Given the description of an element on the screen output the (x, y) to click on. 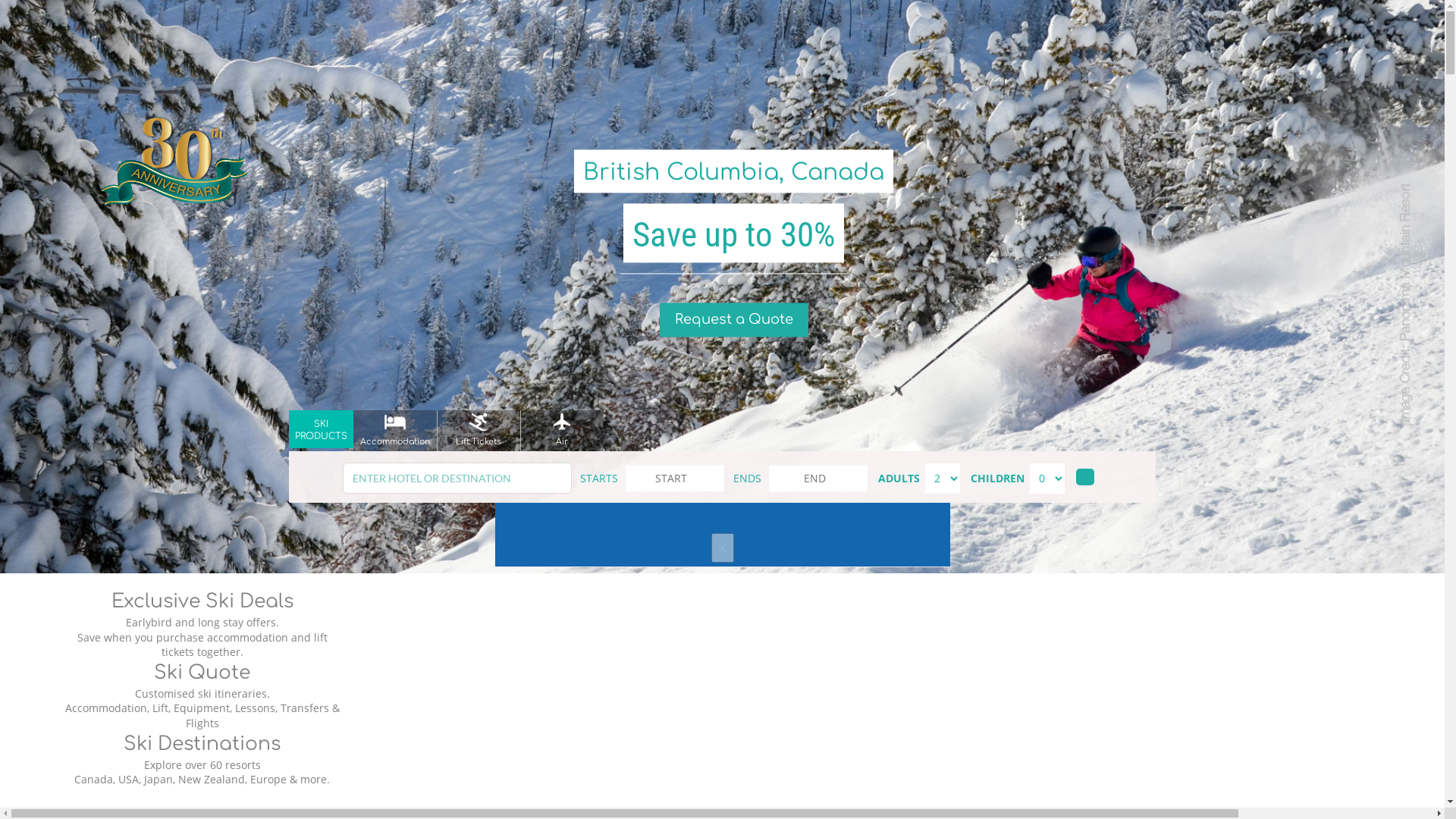
Air Element type: text (561, 429)
SW Element type: text (145, 120)
Toggle navigation Element type: text (51, 15)
BLOG Element type: text (151, 139)
NZ Element type: text (144, 101)
BROCHURE Element type: text (156, 198)
DEALS Element type: text (150, 157)
Accommodation Element type: text (394, 429)
CAD Element type: text (147, 64)
USA Element type: text (147, 46)
QUOTE Element type: text (146, 183)
Request a Quote Element type: text (733, 319)
ABOUT Element type: text (145, 213)
Lift Tickets Element type: text (478, 429)
British Columbia, Canada
Save up to 30%

Request a Quote Element type: text (733, 286)
0 Element type: text (1409, 34)
JPN Element type: text (145, 83)
